Given the description of an element on the screen output the (x, y) to click on. 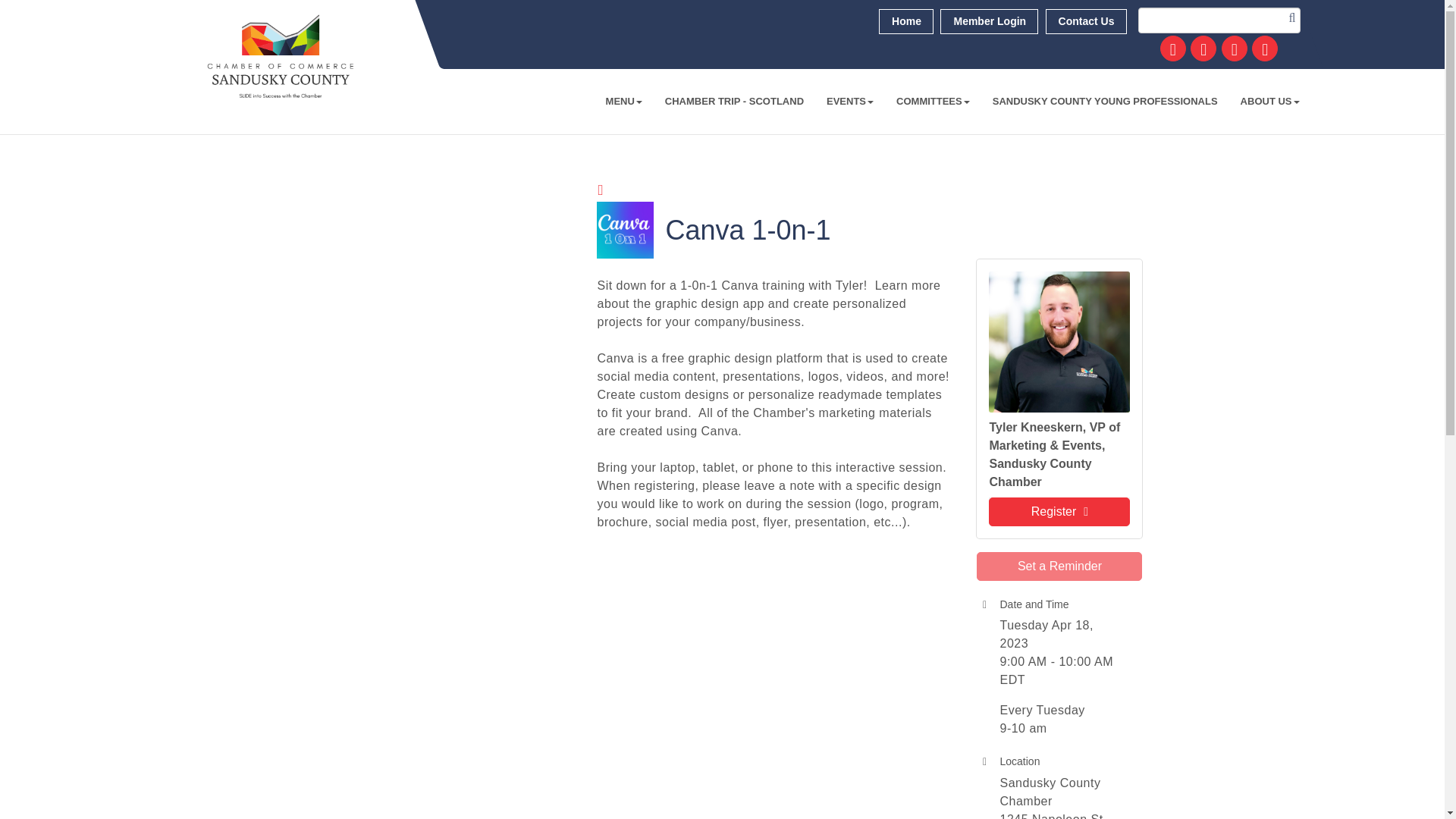
Member Login (989, 21)
SANDUSKY COUNTY YOUNG PROFESSIONALS (1104, 101)
Icon Link (1203, 48)
Contact Us (1085, 21)
CHAMBER TRIP - SCOTLAND (734, 101)
ABOUT US (1269, 101)
Icon Link (1173, 48)
Home (906, 21)
Icon Link (1234, 48)
EVENTS (850, 101)
